Given the description of an element on the screen output the (x, y) to click on. 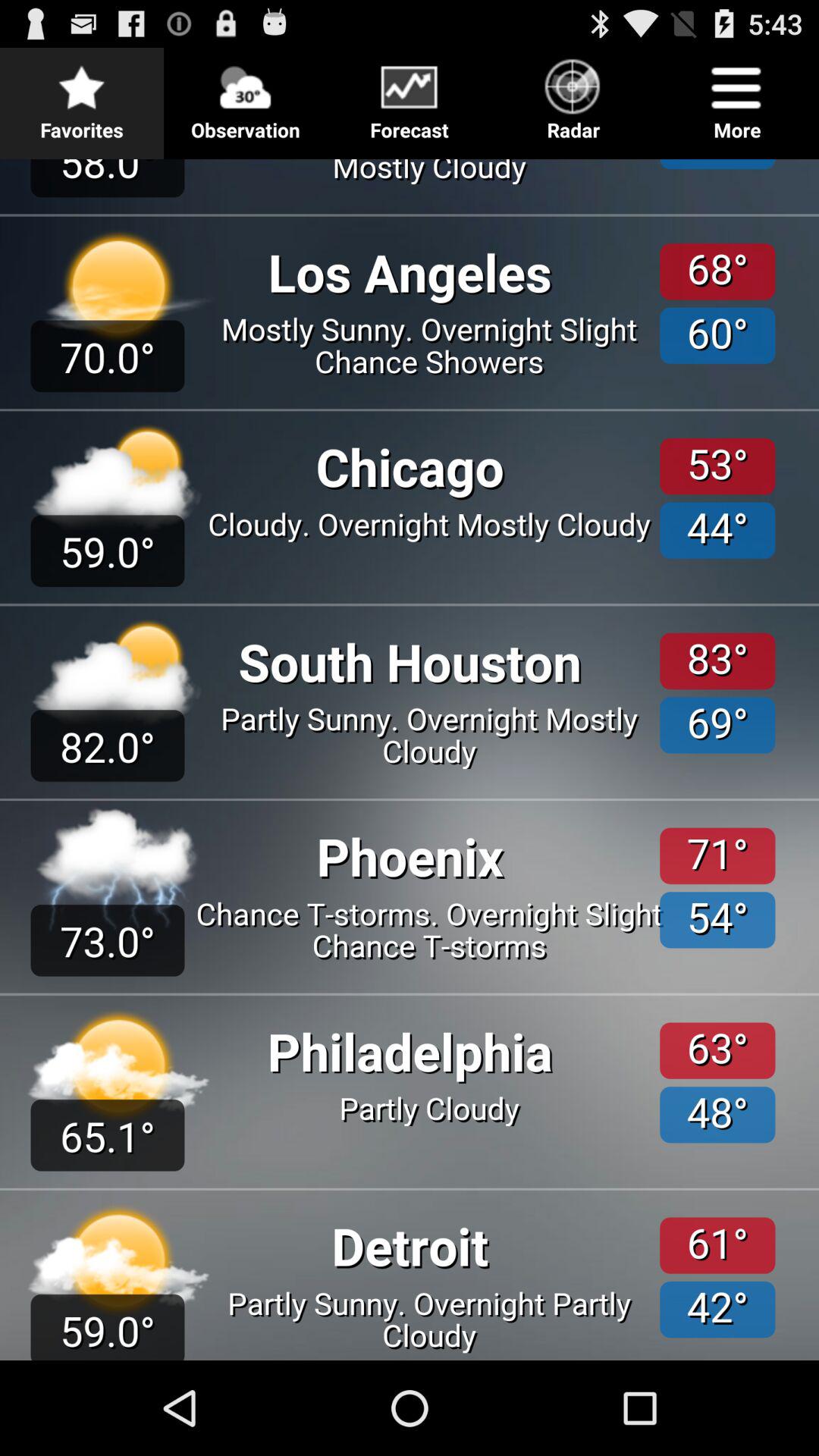
turn on item to the right of observation button (409, 95)
